Given the description of an element on the screen output the (x, y) to click on. 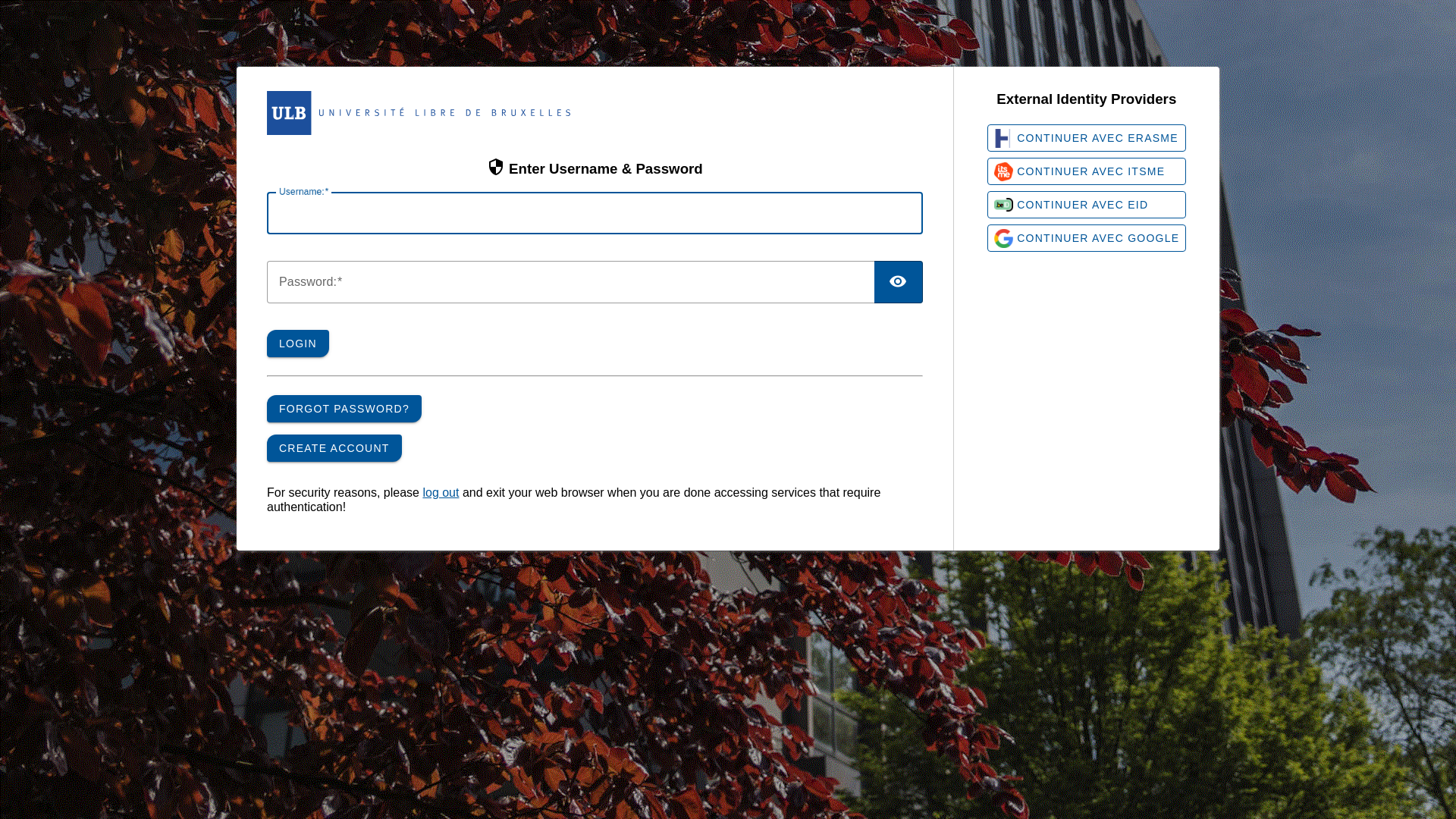
 CONTINUER AVEC ITSME Element type: text (1086, 171)
log out Element type: text (440, 492)
TOGGLE PASSWORD Element type: text (898, 281)
 CONTINUER AVEC GOOGLE Element type: text (1086, 237)
FORGOT PASSWORD? Element type: text (343, 408)
CREATE ACCOUNT Element type: text (333, 447)
 CONTINUER AVEC ERASME Element type: text (1086, 137)
LOGIN Element type: text (297, 343)
 CONTINUER AVEC EID Element type: text (1086, 204)
